Given the description of an element on the screen output the (x, y) to click on. 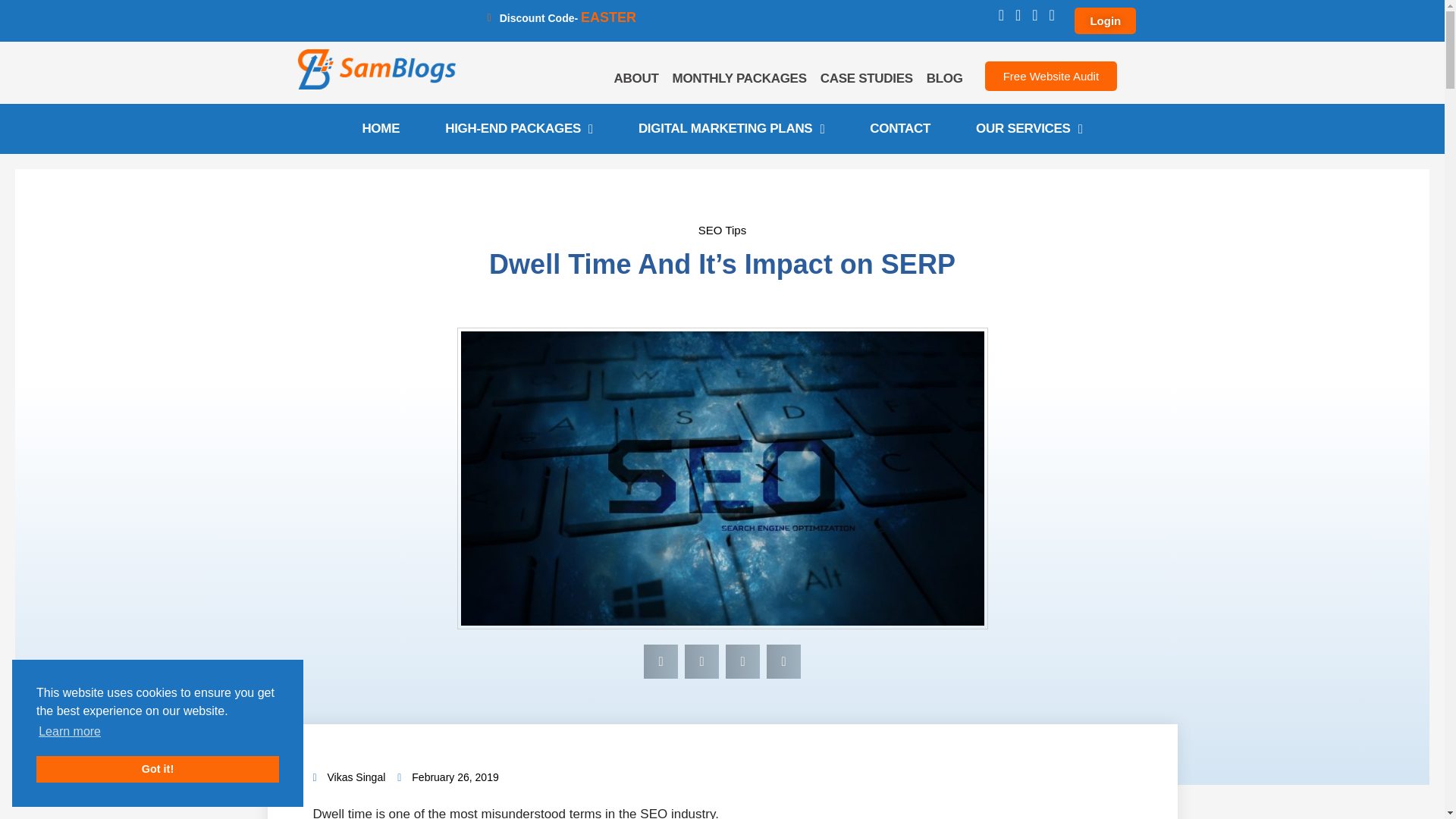
ABOUT (636, 78)
BLOG (944, 78)
DIGITAL MARKETING PLANS (731, 128)
HIGH-END PACKAGES (518, 128)
Got it! (157, 768)
CASE STUDIES (866, 78)
Free Website Audit (1050, 75)
HOME (380, 128)
Learn more (69, 731)
MONTHLY PACKAGES (739, 78)
